Given the description of an element on the screen output the (x, y) to click on. 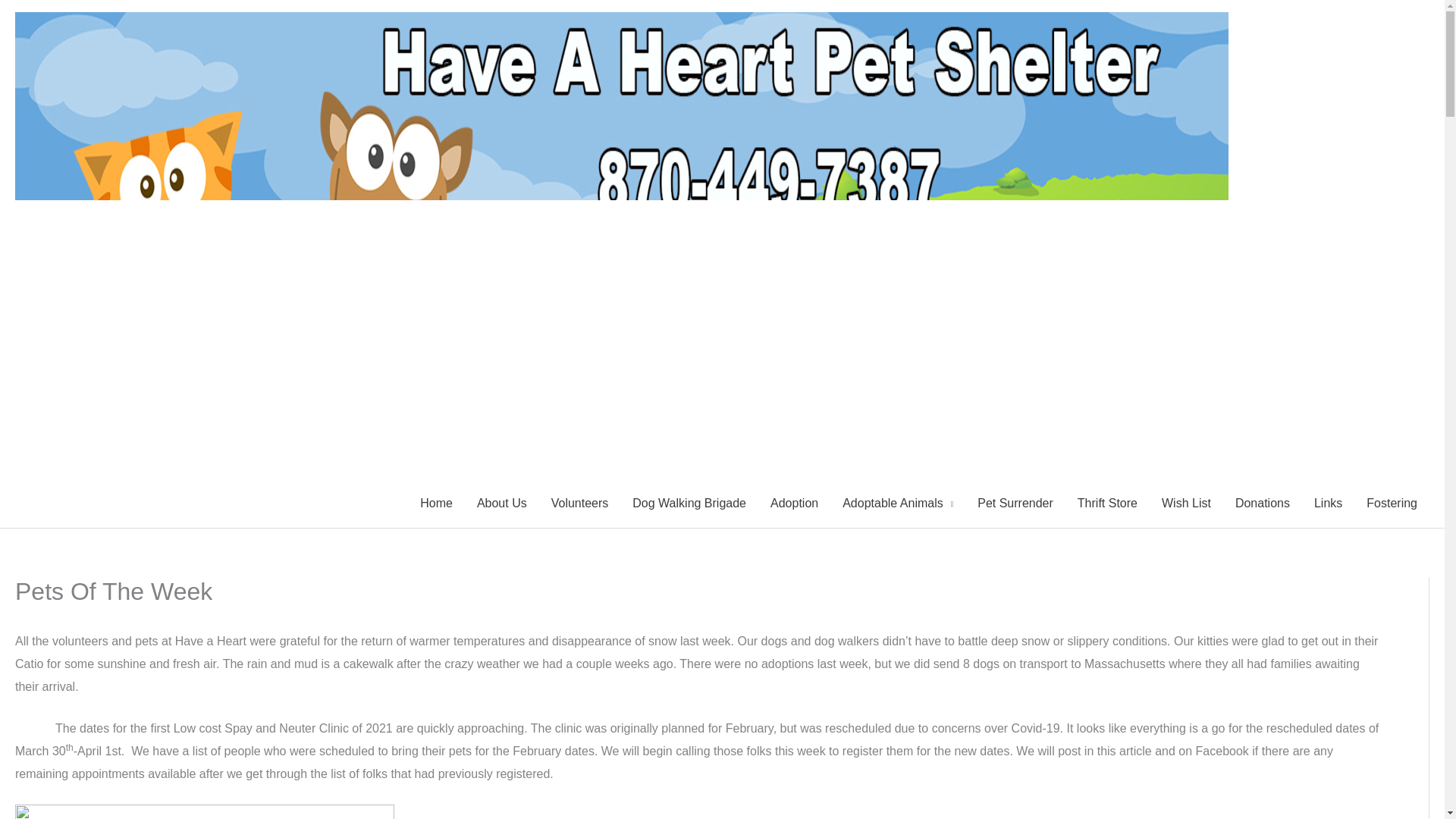
Pet Surrender (1015, 503)
Adoption (793, 503)
Dog Walking Brigade (689, 503)
Adoptable Animals (897, 503)
Wish List (1186, 503)
Fostering (1391, 503)
Thrift Store (1107, 503)
Links (1327, 503)
Donations (1262, 503)
About Us (501, 503)
